Given the description of an element on the screen output the (x, y) to click on. 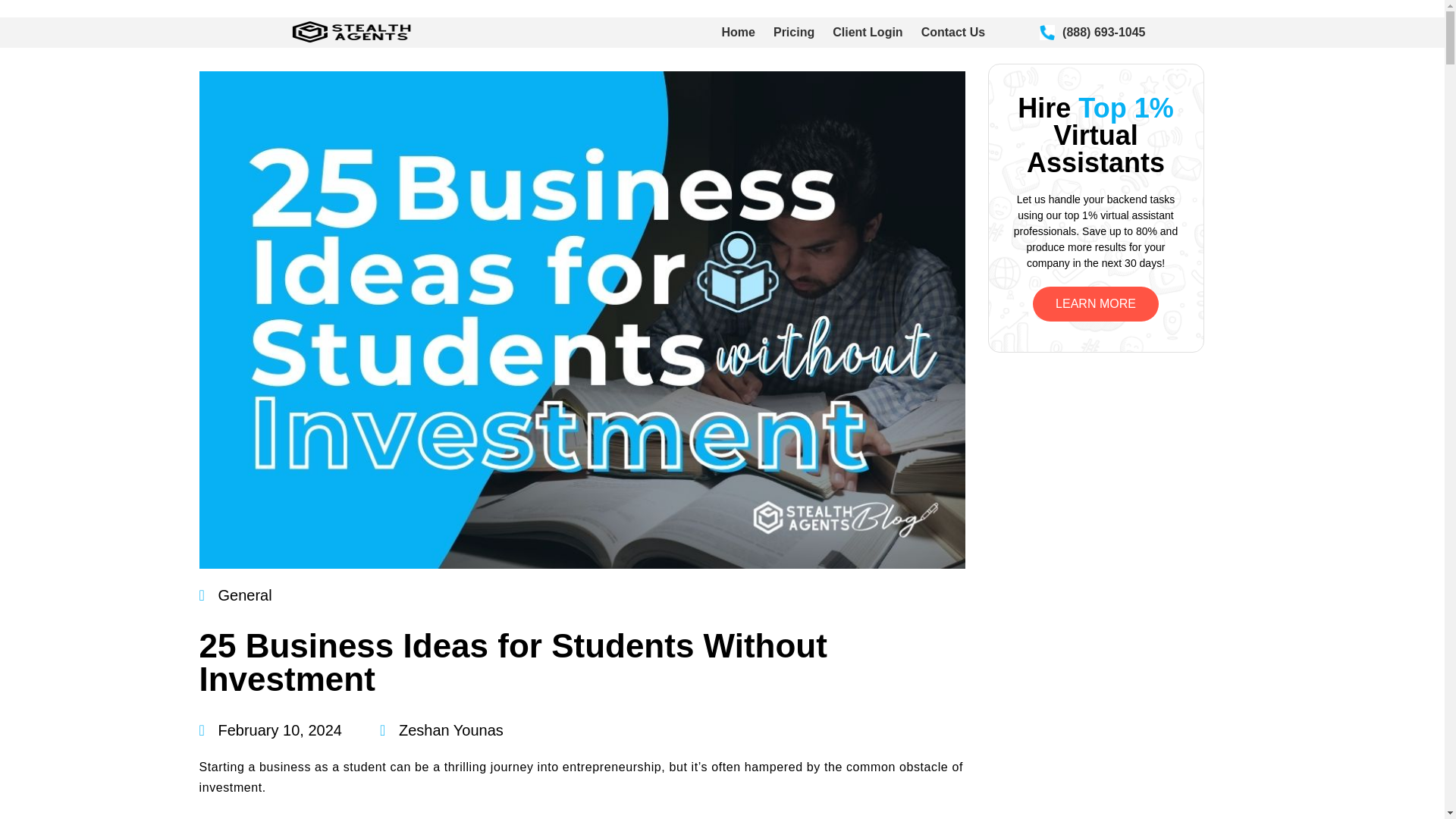
Client Login (867, 32)
February 10, 2024 (269, 730)
Pricing (793, 32)
Home (738, 32)
Contact Us (953, 32)
Zeshan Younas (441, 730)
LEARN MORE (1095, 303)
Stealth Agents (466, 42)
General (245, 595)
